Given the description of an element on the screen output the (x, y) to click on. 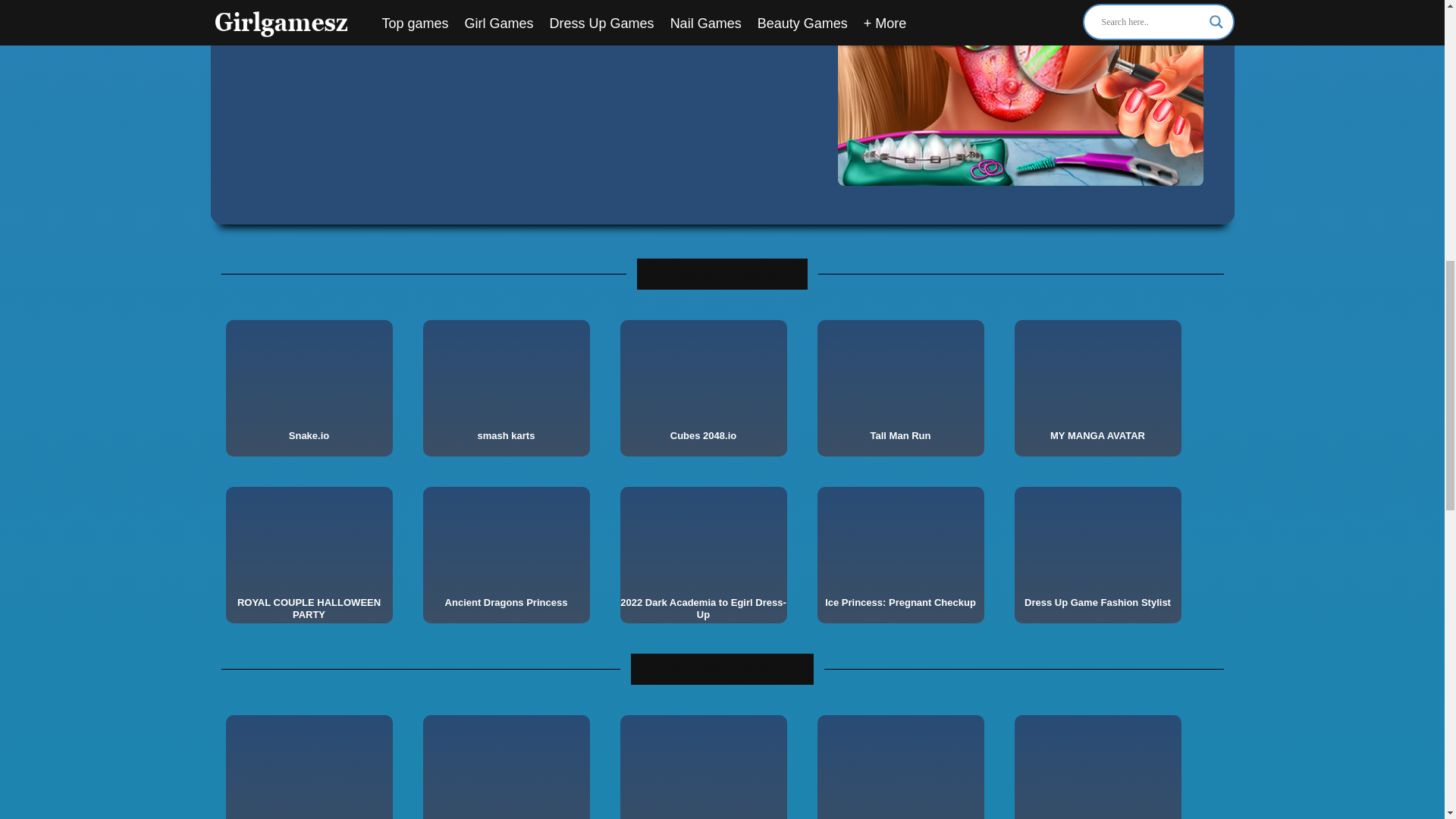
smash karts (506, 436)
MY MANGA AVATAR (1097, 436)
Snake.io (309, 436)
ROYAL COUPLE HALLOWEEN PARTY (309, 609)
Cubes 2048.io (703, 436)
Ancient Dragons Princess (506, 603)
Tall Man Run (900, 436)
